Given the description of an element on the screen output the (x, y) to click on. 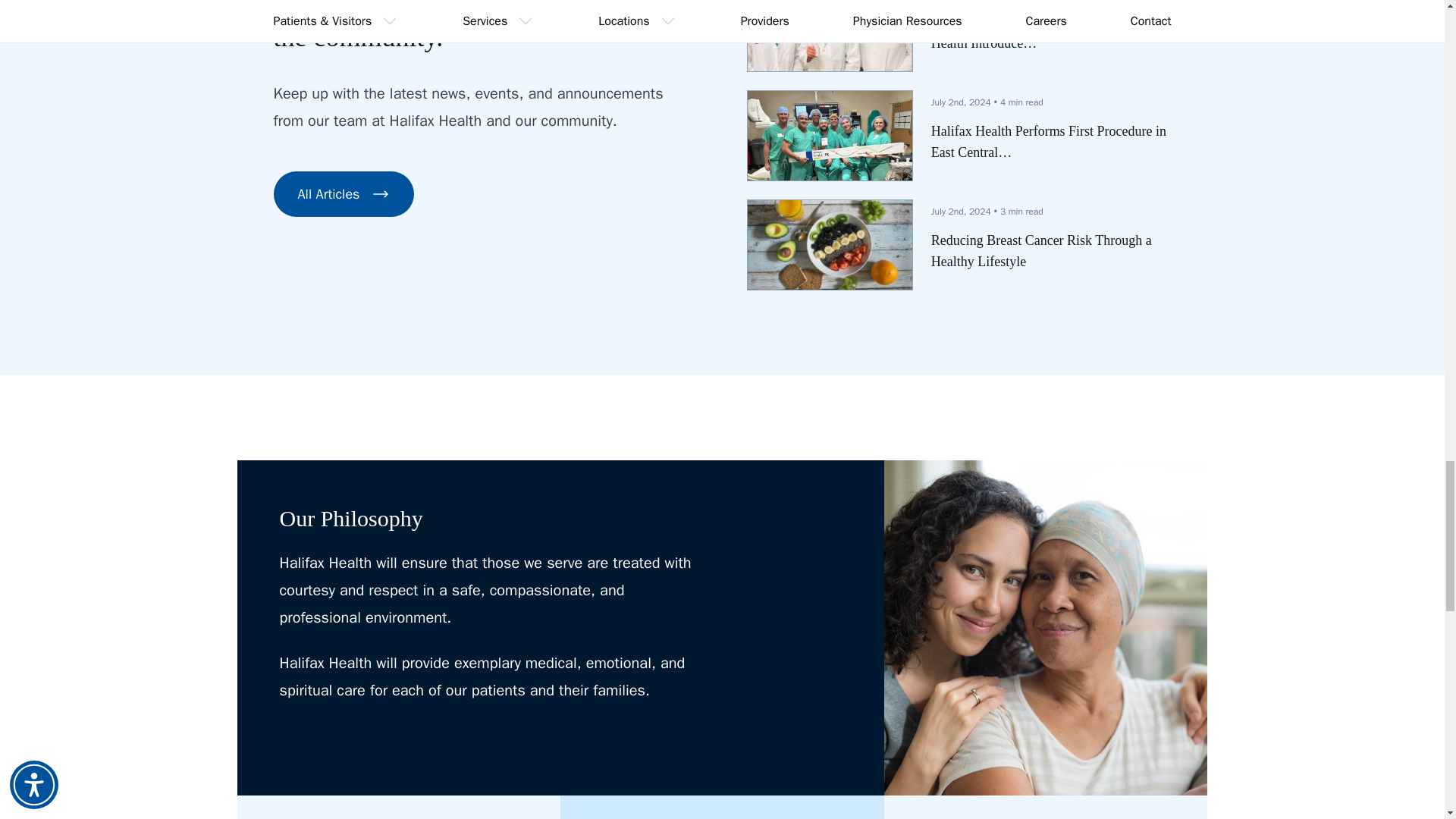
Reducing Breast Cancer Risk Through a Healthy Lifestyle (1051, 250)
